Given the description of an element on the screen output the (x, y) to click on. 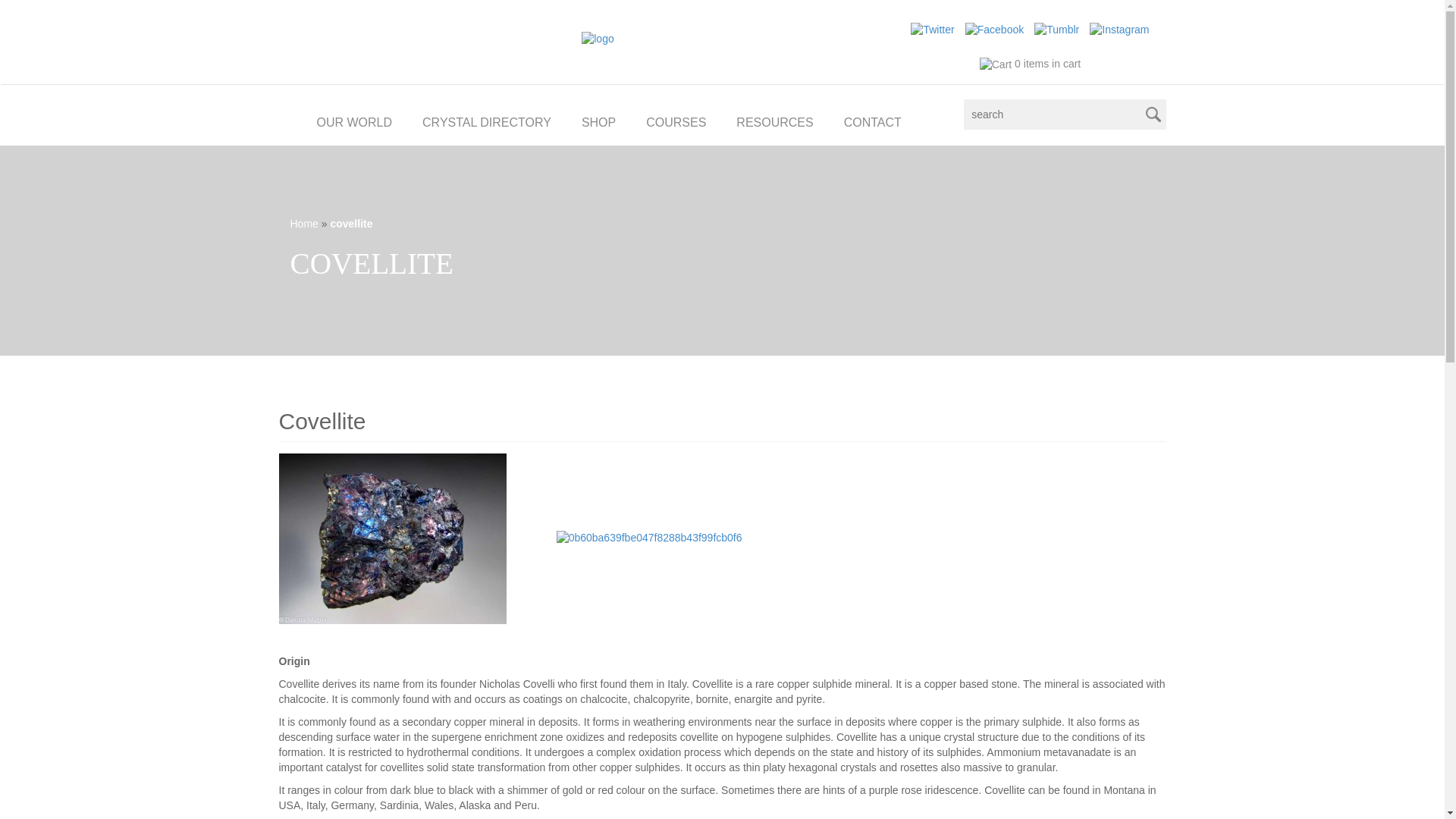
Cart (995, 64)
CONTACT (872, 120)
Twitter (932, 29)
SHOP (598, 120)
Tumblr (1055, 29)
COURSES (675, 120)
OUR WORLD (354, 120)
0 items in cart (1029, 63)
CRYSTAL DIRECTORY (486, 120)
Home (303, 223)
